Given the description of an element on the screen output the (x, y) to click on. 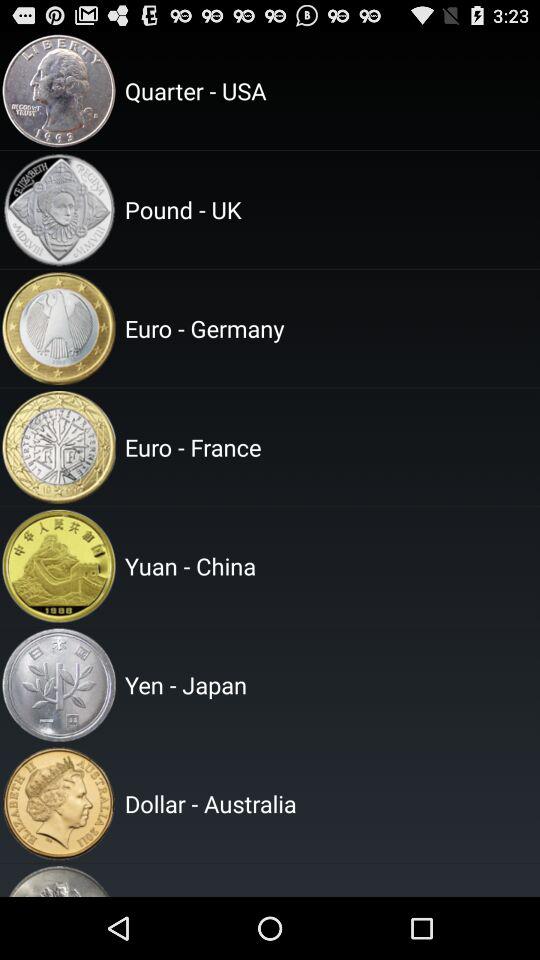
scroll to the euro - germany app (329, 328)
